Given the description of an element on the screen output the (x, y) to click on. 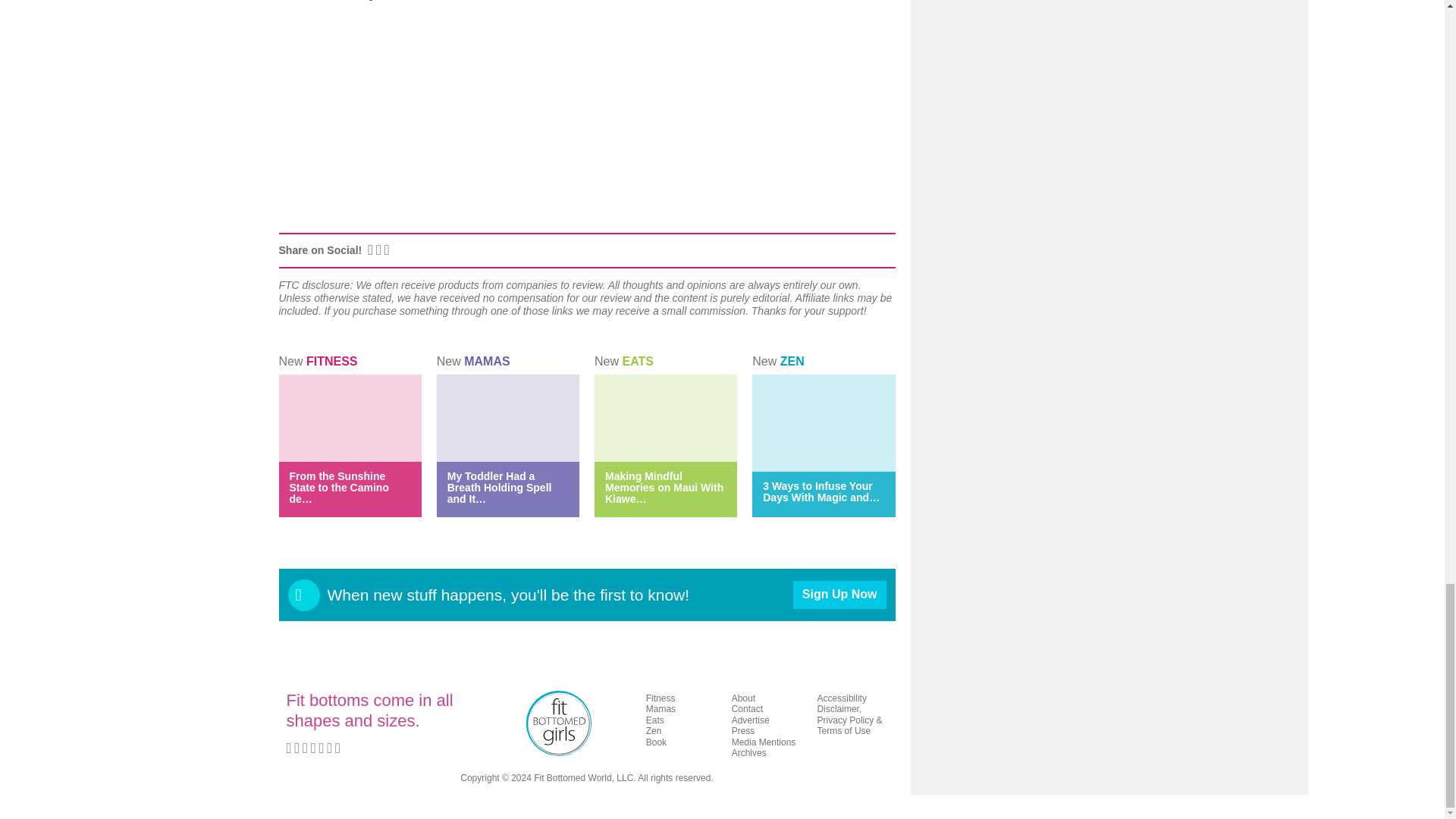
Making Mindful Memories on Maui With Kiawe Outdoor (664, 487)
3 Ways to Infuse Your Days With Magic and Meaning (820, 491)
From the Sunshine State to the Camino de Santiago (338, 487)
My Toddler Had a Breath Holding Spell and It Was Scary AF (498, 487)
